Given the description of an element on the screen output the (x, y) to click on. 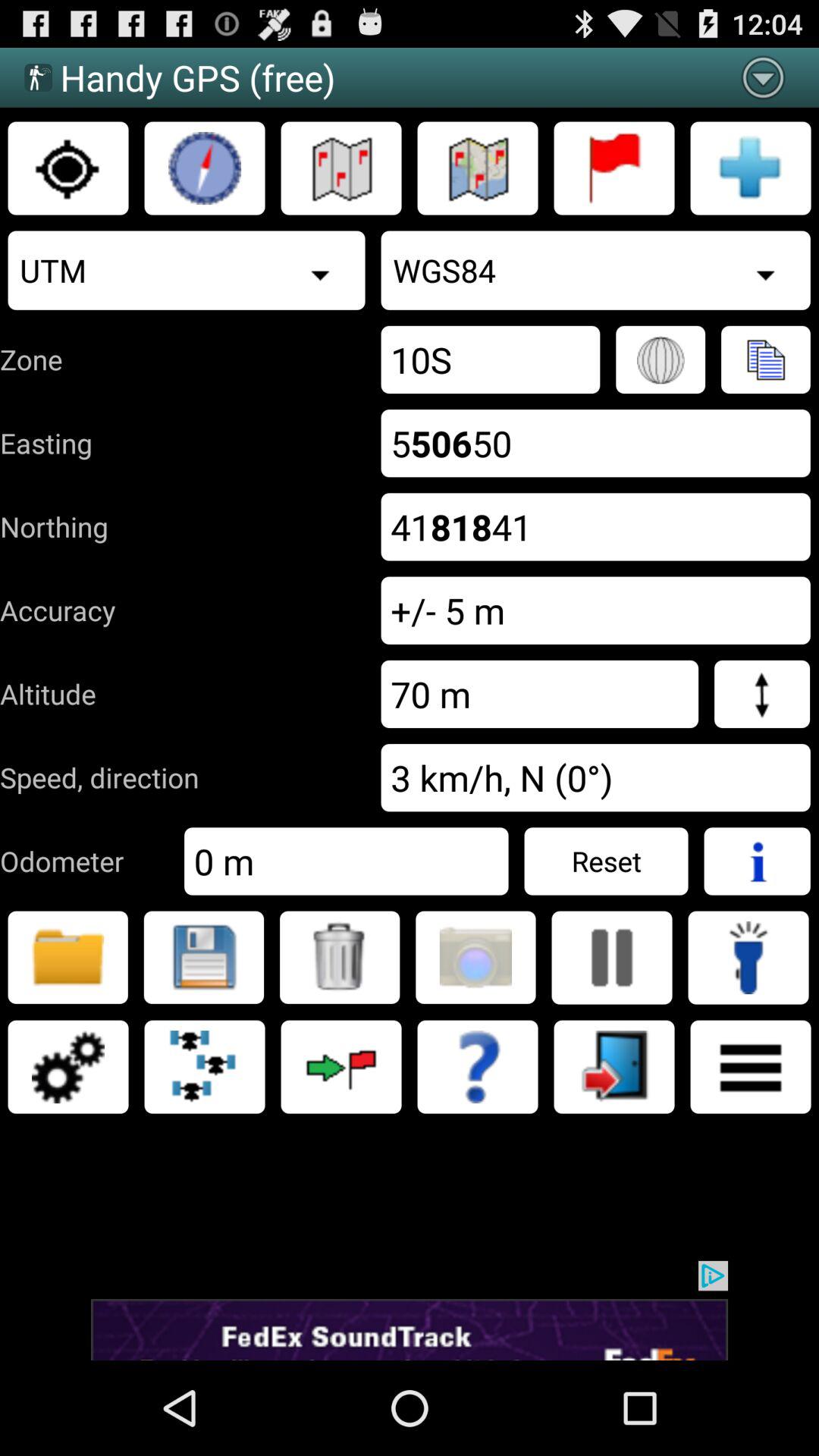
adverts (409, 1310)
